Given the description of an element on the screen output the (x, y) to click on. 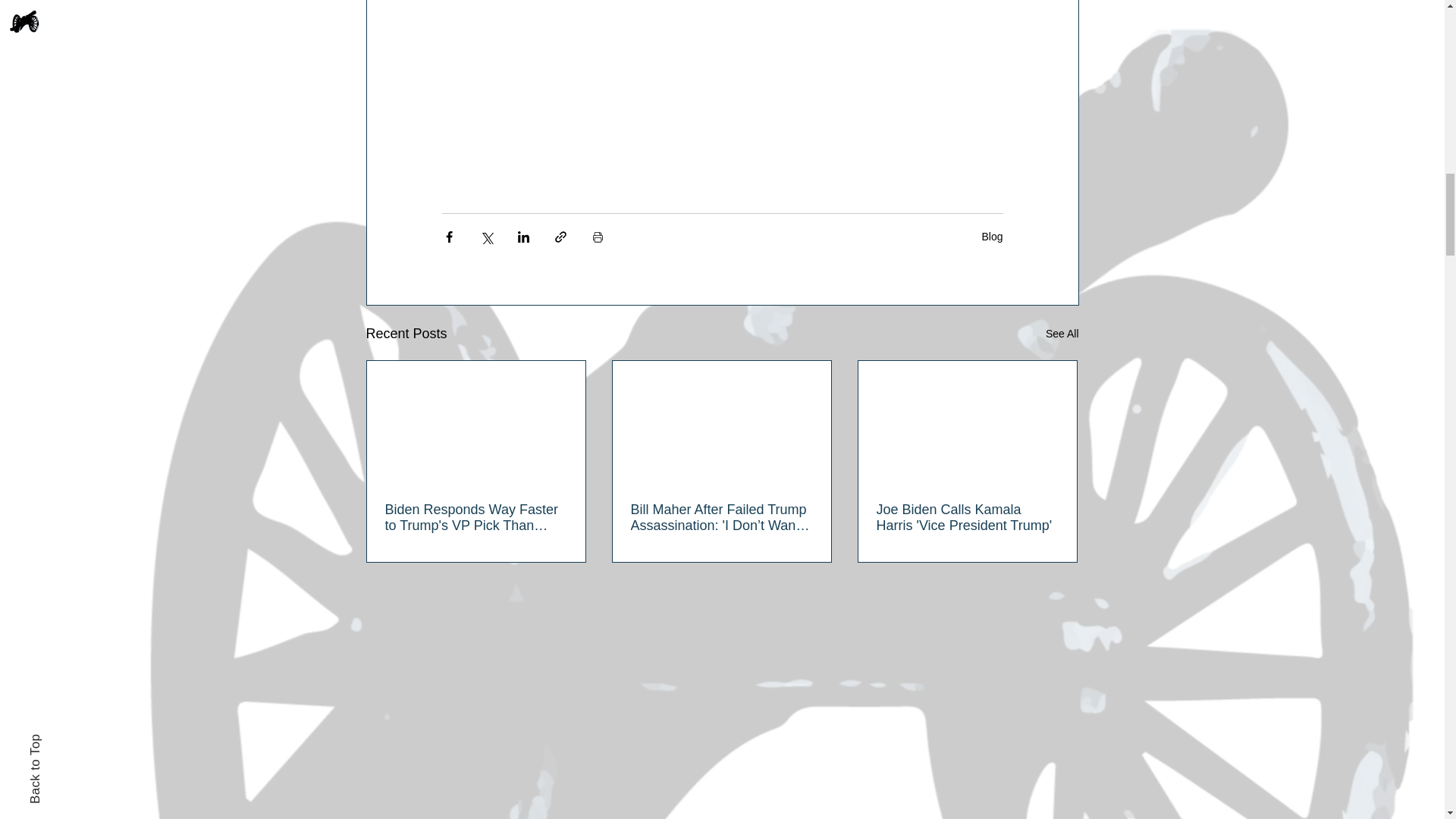
See All (1061, 333)
Joe Biden Calls Kamala Harris 'Vice President Trump' (967, 517)
Blog (992, 236)
